Given the description of an element on the screen output the (x, y) to click on. 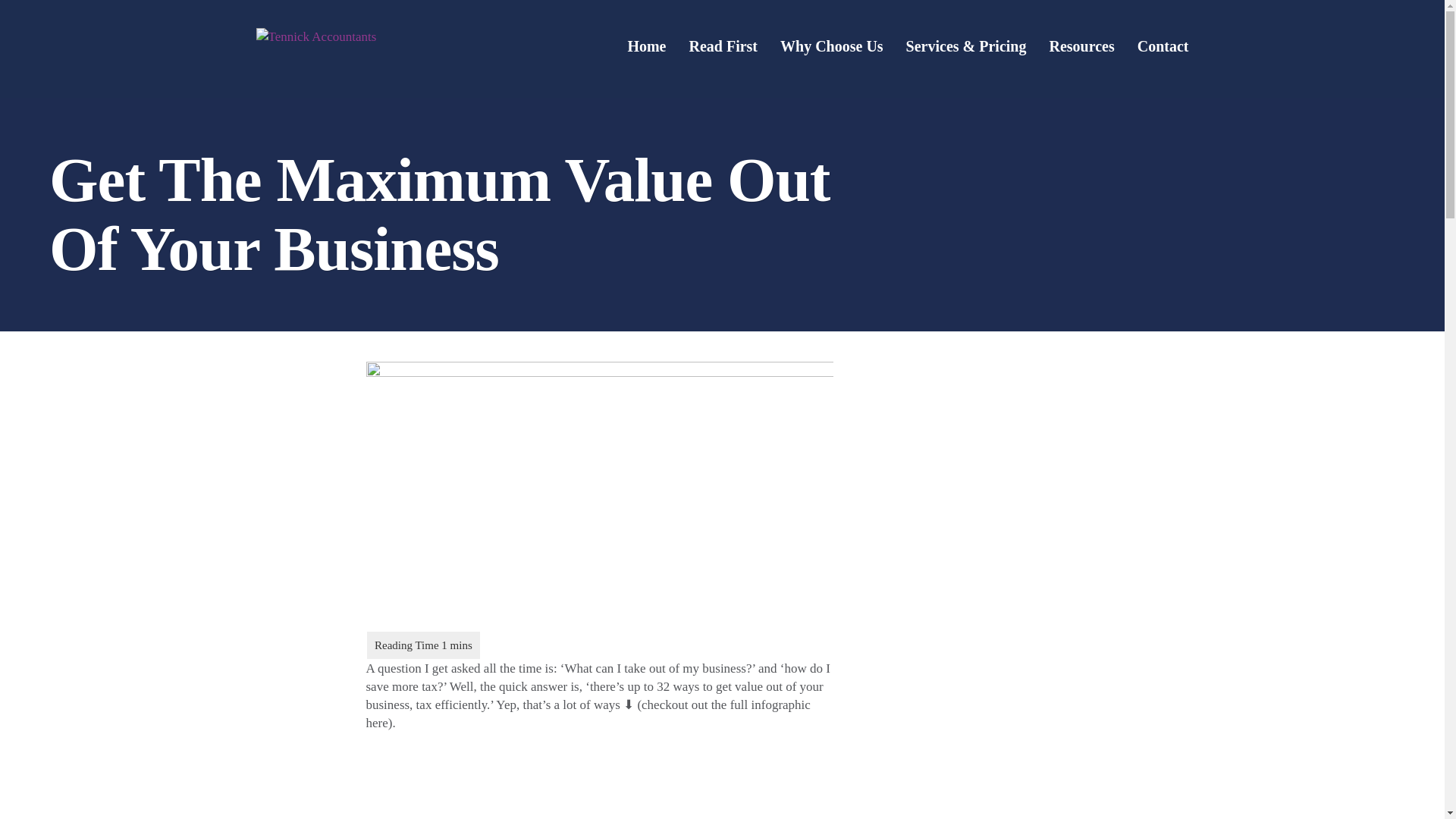
Contact Us (1163, 44)
Tennick Accountants (318, 34)
Contact (1163, 44)
Home (646, 44)
Why Choose Us (831, 44)
Home (646, 44)
Read First (722, 44)
Resources (1080, 44)
